Given the description of an element on the screen output the (x, y) to click on. 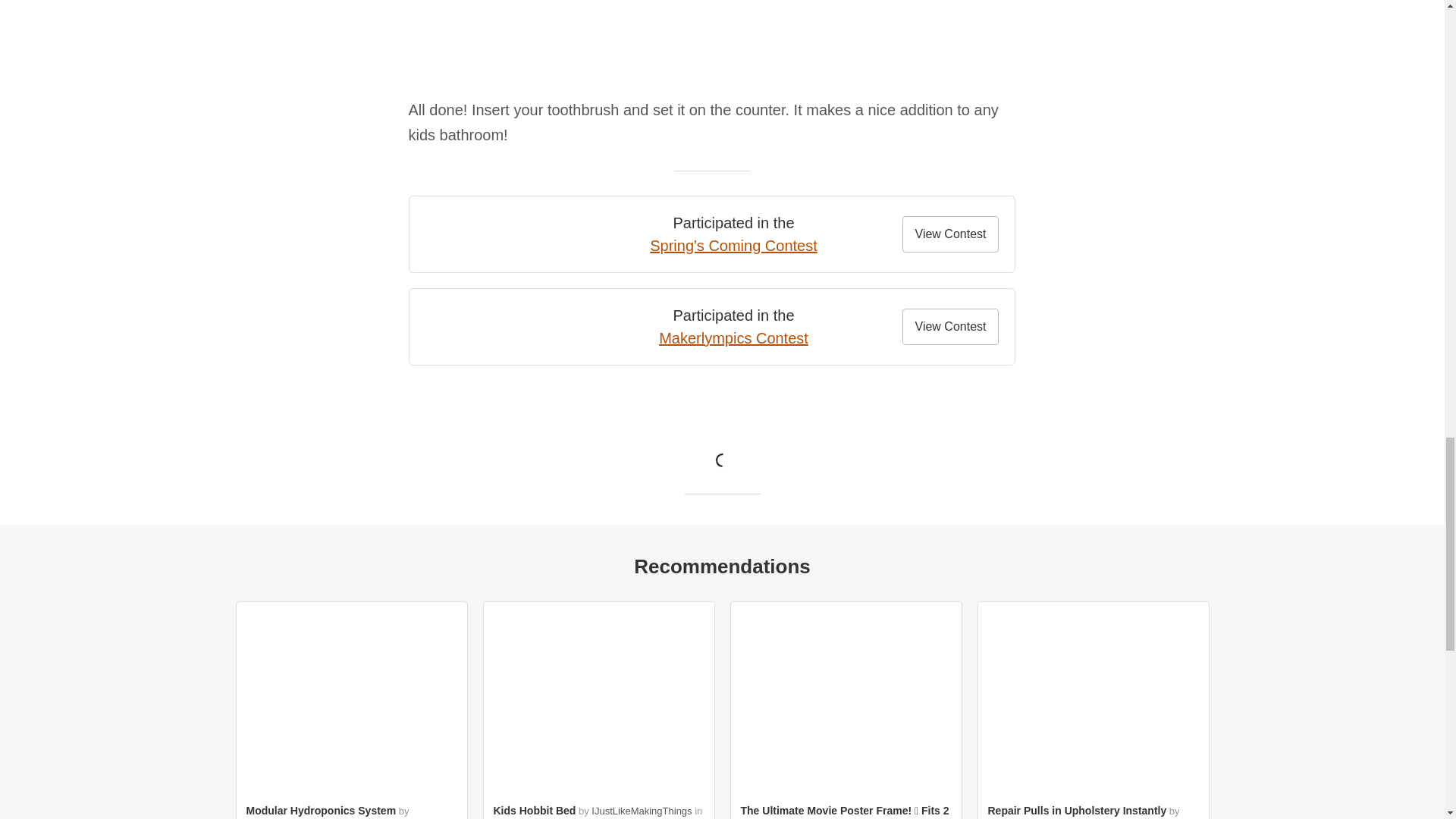
View Contest (950, 234)
Makerlympics Contest (733, 338)
Spring's Coming Contest (732, 245)
IJustLikeMakingThings (641, 810)
View Contest (950, 326)
Kids Hobbit Bed (534, 810)
Modular Hydroponics System (321, 810)
